Given the description of an element on the screen output the (x, y) to click on. 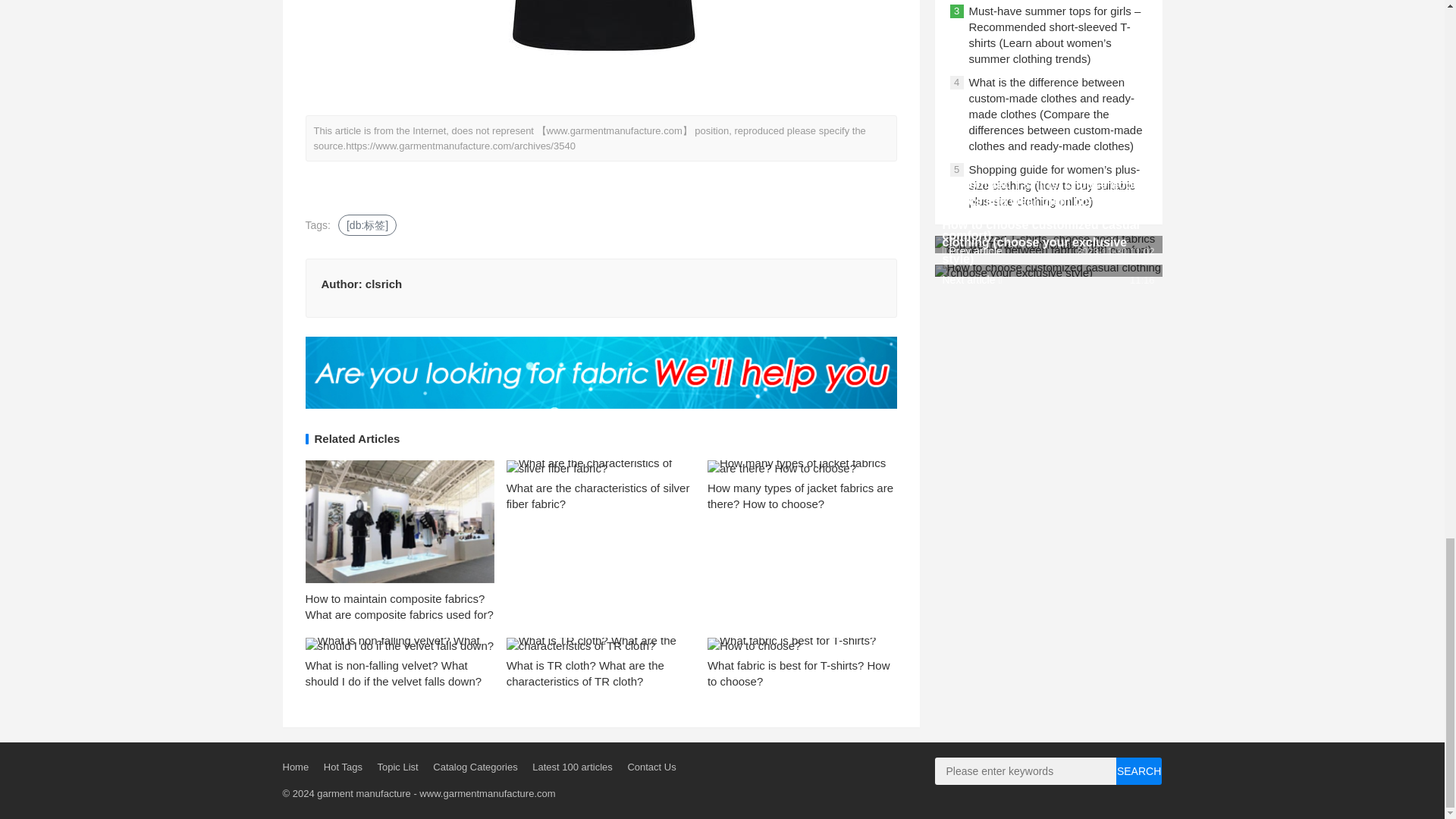
What are the characteristics of silver fiber fabric? (598, 495)
How many types of jacket fabrics are there? How to choose? (800, 495)
What is TR cloth? What are the characteristics of TR cloth? (584, 673)
clsrich (383, 283)
What fabric is best for T-shirts? How to choose? (798, 673)
